Given the description of an element on the screen output the (x, y) to click on. 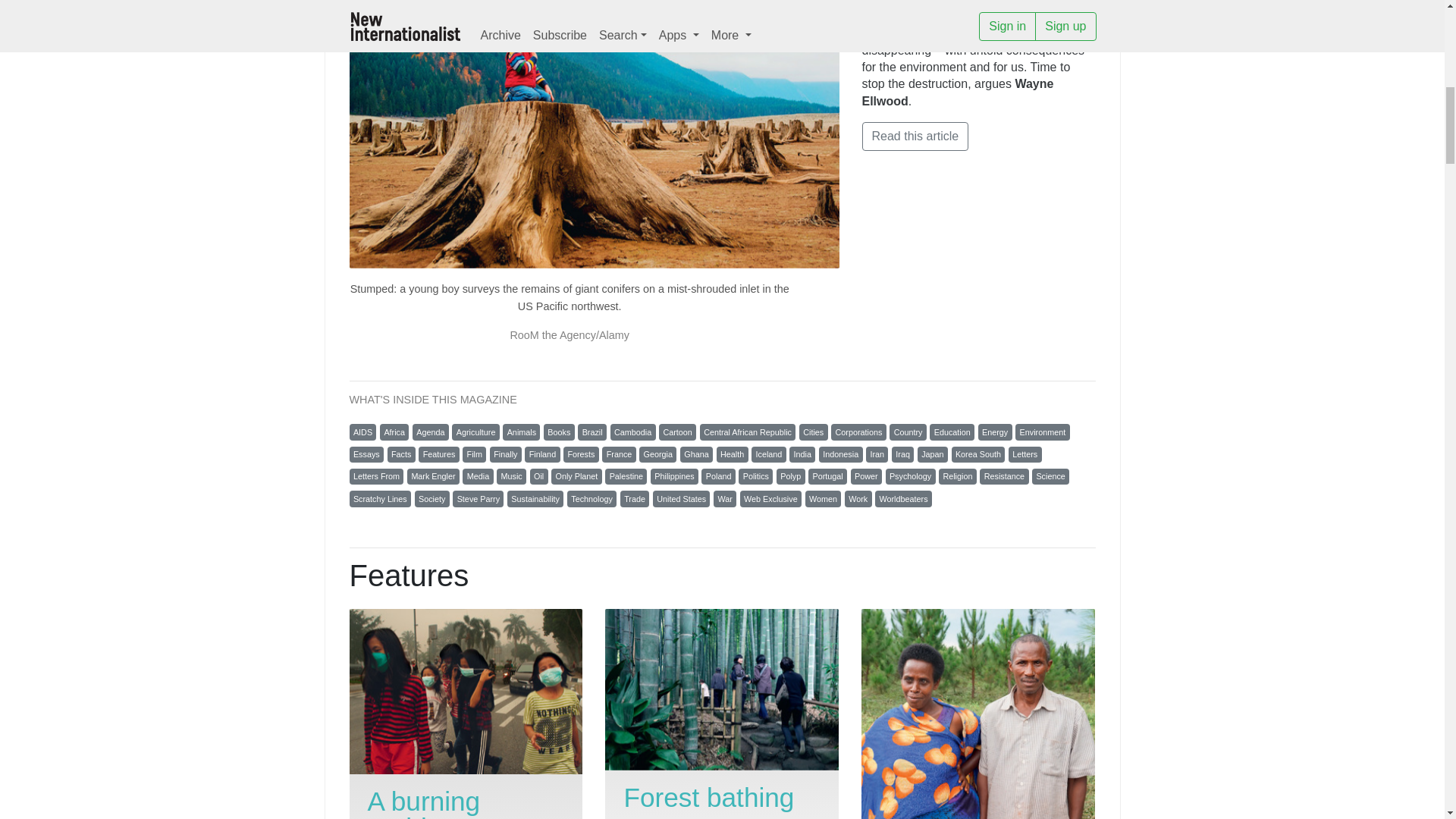
Agenda (430, 432)
491 - April, 2016 (900, 7)
Share this article on Facebook (973, 7)
Africa (394, 432)
Animals (521, 432)
Read this article (914, 136)
Tweet about this article (959, 7)
Agriculture (475, 432)
AIDS (362, 432)
